Given the description of an element on the screen output the (x, y) to click on. 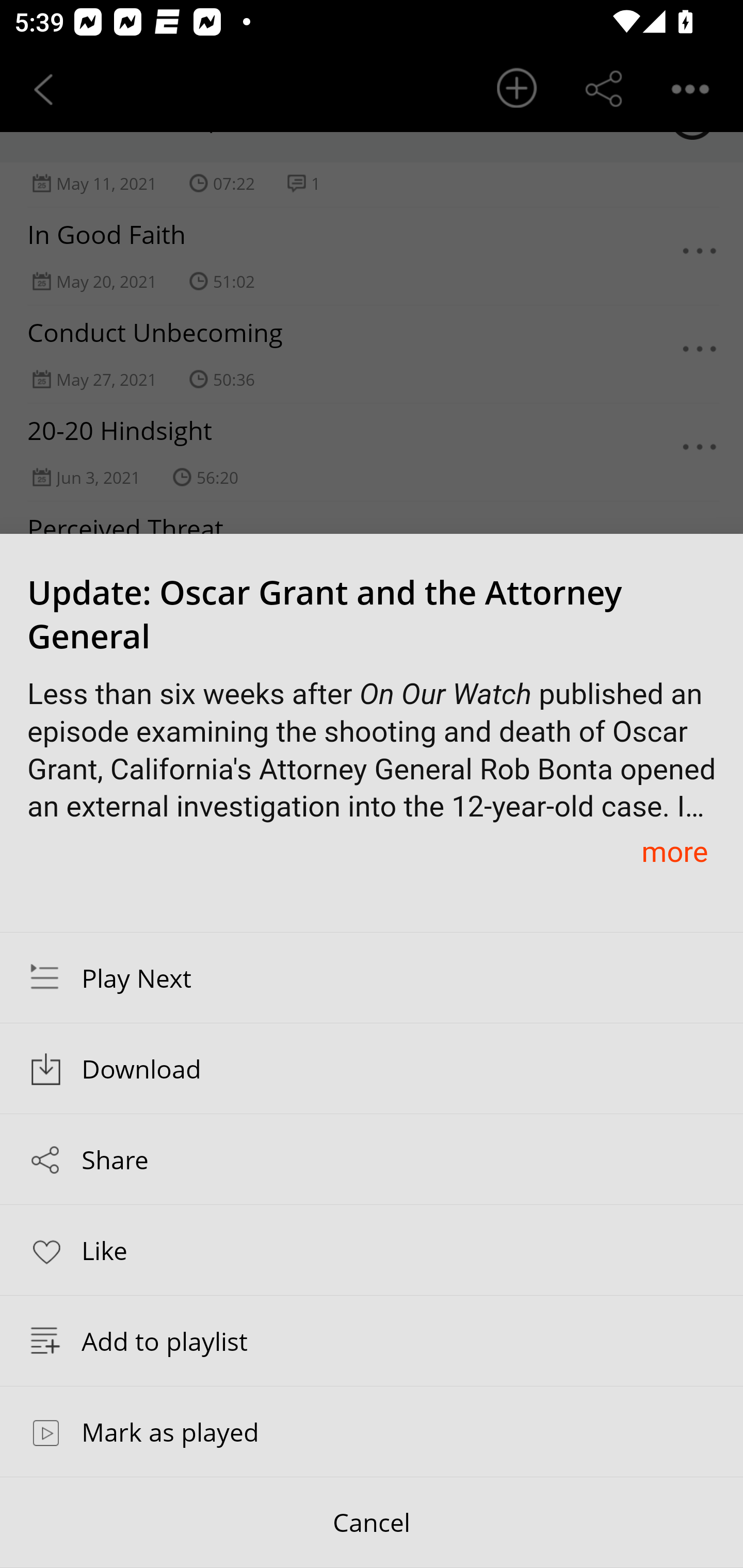
more (674, 851)
Play Next (371, 977)
Download (371, 1068)
Share (371, 1159)
Like (371, 1249)
Add to playlist (371, 1340)
Mark as played (371, 1431)
Cancel (371, 1522)
